Given the description of an element on the screen output the (x, y) to click on. 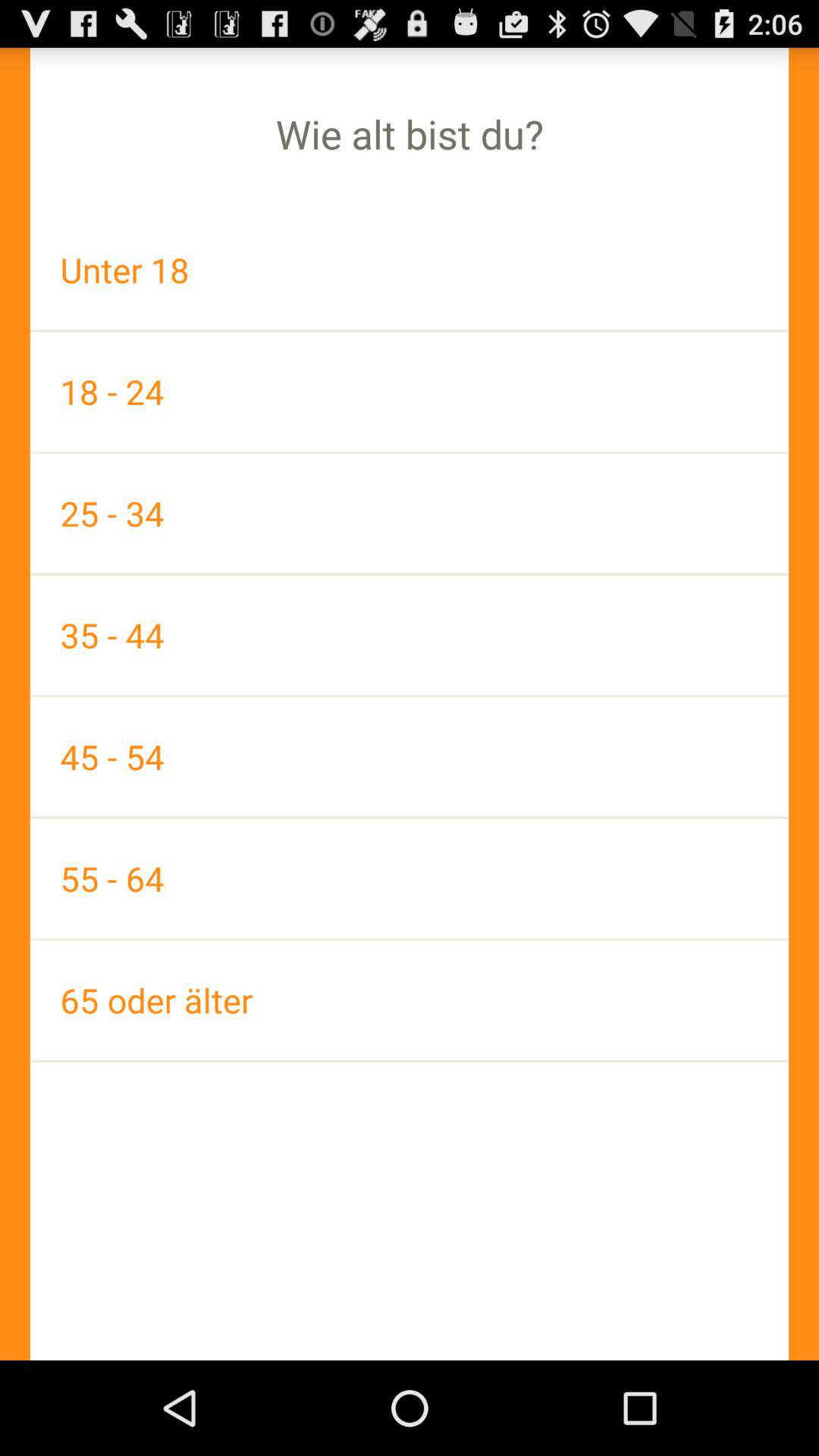
swipe to the 35 - 44 (409, 635)
